Given the description of an element on the screen output the (x, y) to click on. 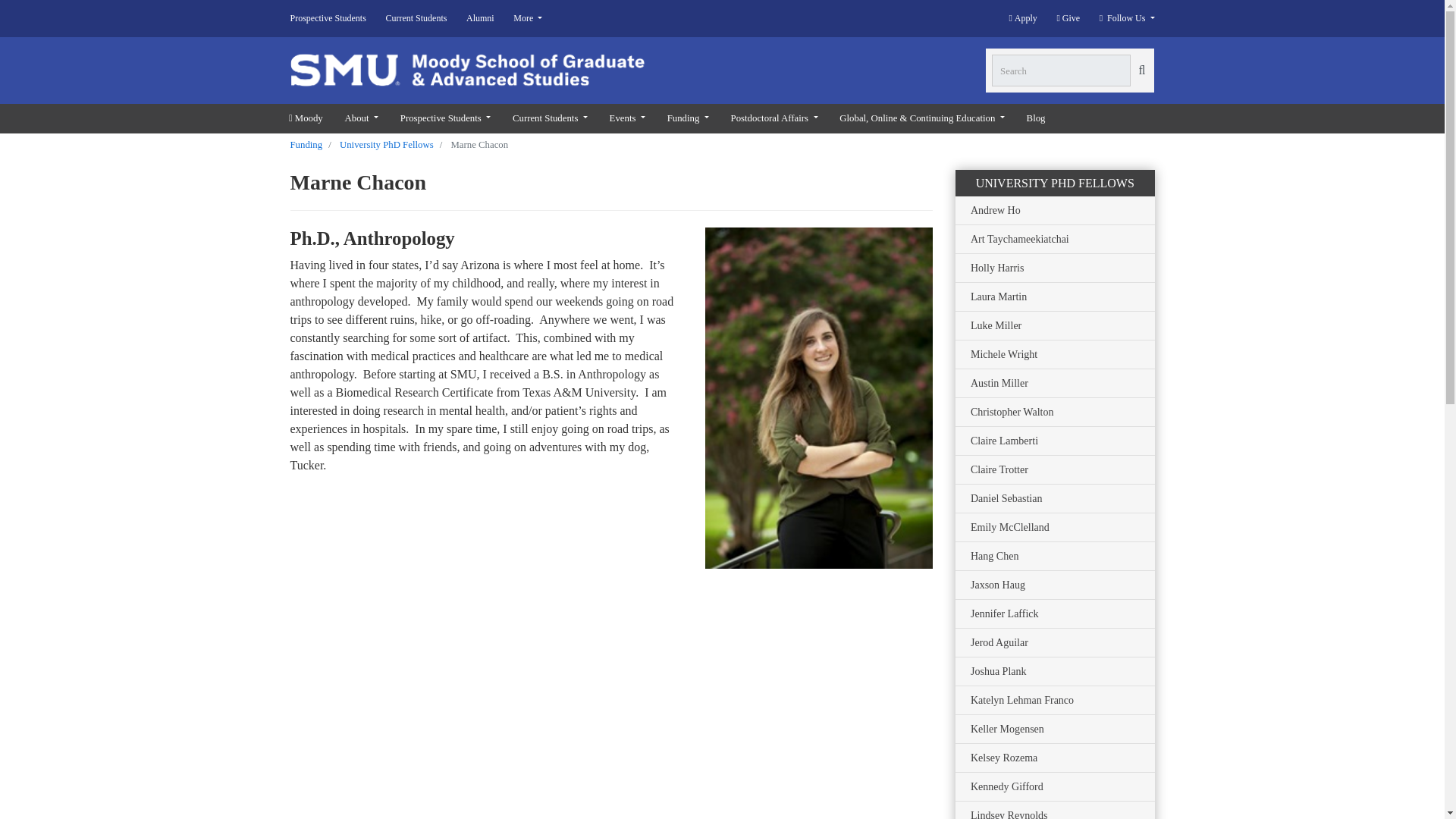
Alumni (480, 18)
Prospective Students (444, 118)
  Follow Us (1022, 18)
Give (1121, 18)
Prospective Students (1067, 18)
More (332, 18)
Apply (527, 18)
Moody (1022, 18)
Current Students (305, 118)
